Given the description of an element on the screen output the (x, y) to click on. 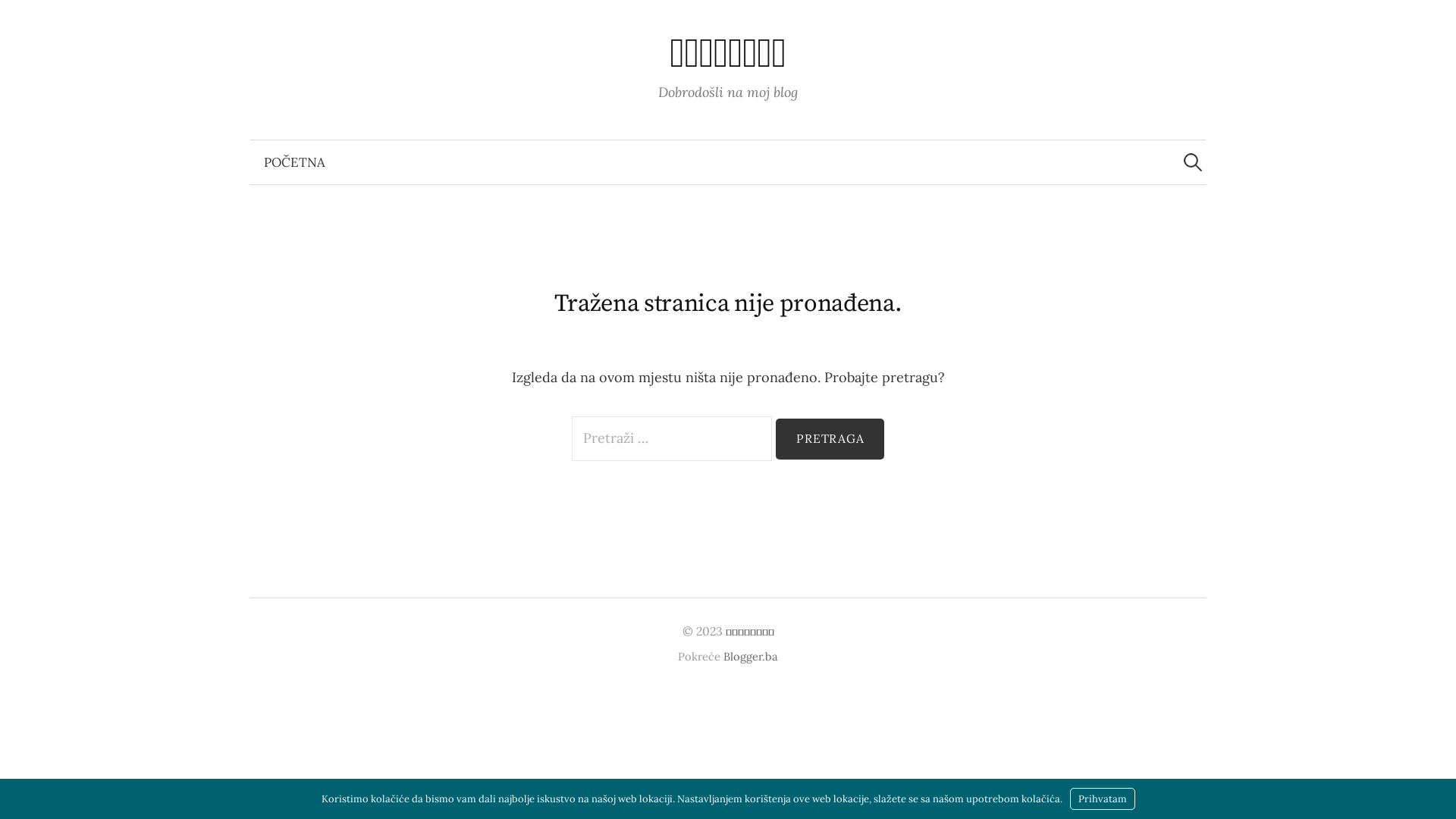
Blogger.ba Element type: text (750, 656)
Pretraga Element type: text (18, 18)
Prihvatam Element type: text (1101, 798)
Pretraga Element type: text (829, 438)
